Given the description of an element on the screen output the (x, y) to click on. 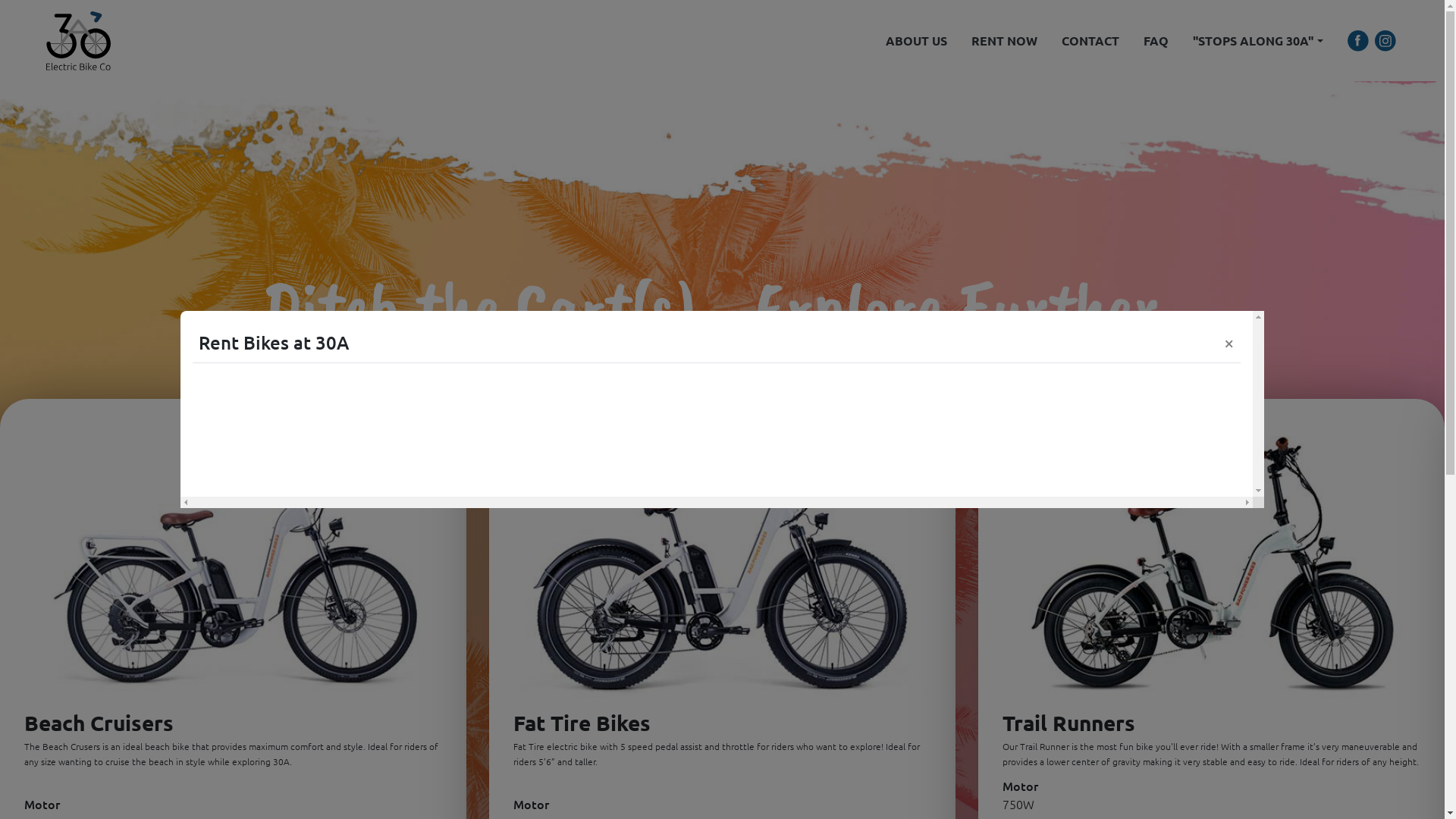
FAQ Element type: text (1155, 40)
RENT NOW Element type: text (1004, 40)
Live booking Element type: hover (716, 419)
CONTACT Element type: text (1090, 40)
ABOUT US Element type: text (916, 40)
"STOPS ALONG 30A" Element type: text (1257, 40)
